Given the description of an element on the screen output the (x, y) to click on. 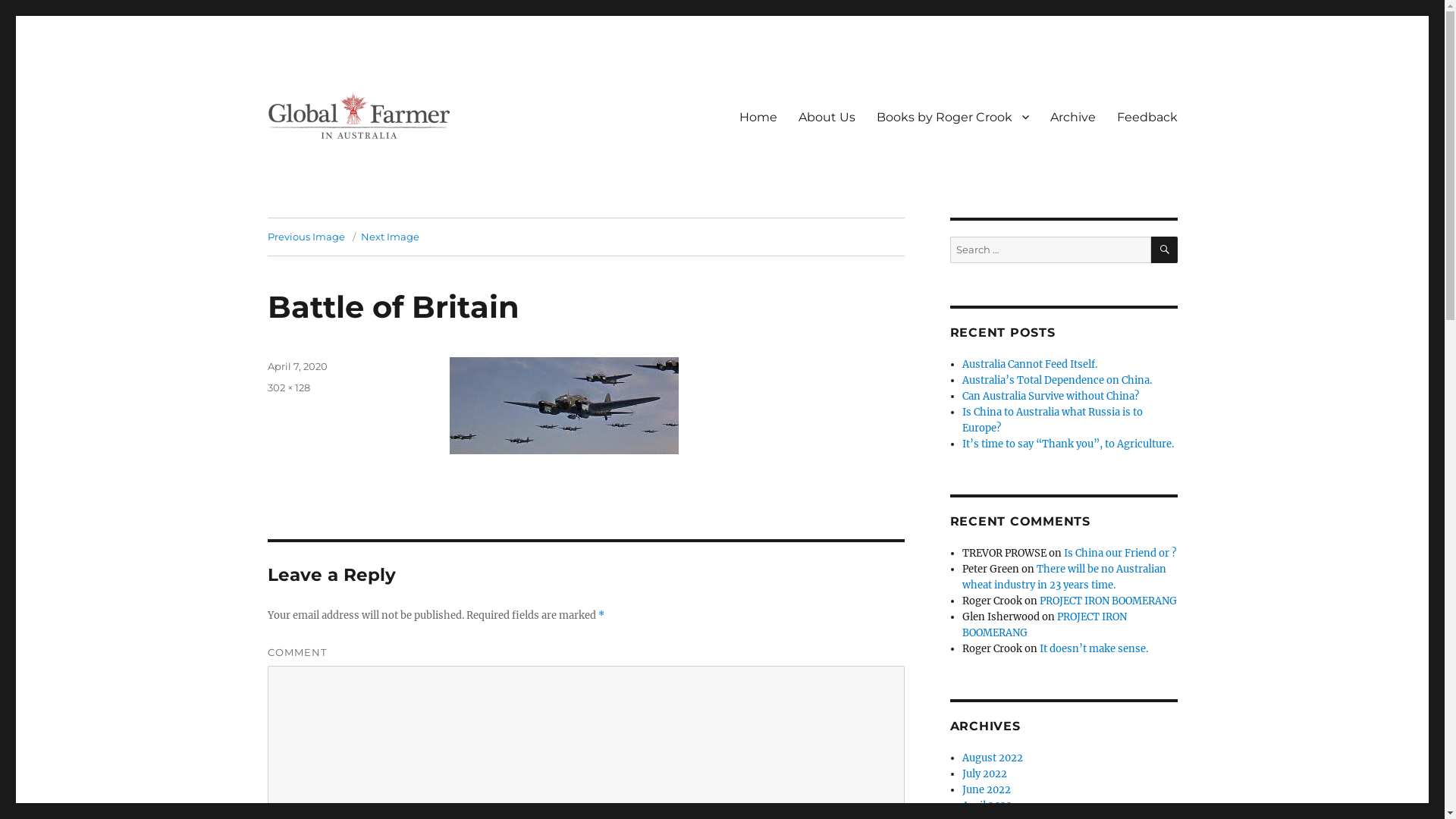
SEARCH Element type: text (1164, 249)
Can Australia Survive without China? Element type: text (1050, 395)
Home Element type: text (757, 116)
Previous Image Element type: text (305, 236)
Next Image Element type: text (389, 236)
Books by Roger Crook Element type: text (952, 116)
July 2022 Element type: text (984, 773)
PROJECT IRON BOOMERANG Element type: text (1107, 600)
Feedback Element type: text (1146, 116)
Archive Element type: text (1071, 116)
Is China our Friend or ? Element type: text (1119, 552)
August 2022 Element type: text (992, 757)
Is China to Australia what Russia is to Europe? Element type: text (1052, 419)
June 2022 Element type: text (986, 789)
Global Farmer in Australia Element type: text (409, 164)
April 7, 2020 Element type: text (296, 366)
PROJECT IRON BOOMERANG Element type: text (1044, 624)
About Us Element type: text (826, 116)
April 2022 Element type: text (987, 805)
Australia Cannot Feed Itself. Element type: text (1029, 363)
There will be no Australian wheat industry in 23 years time. Element type: text (1064, 576)
